Given the description of an element on the screen output the (x, y) to click on. 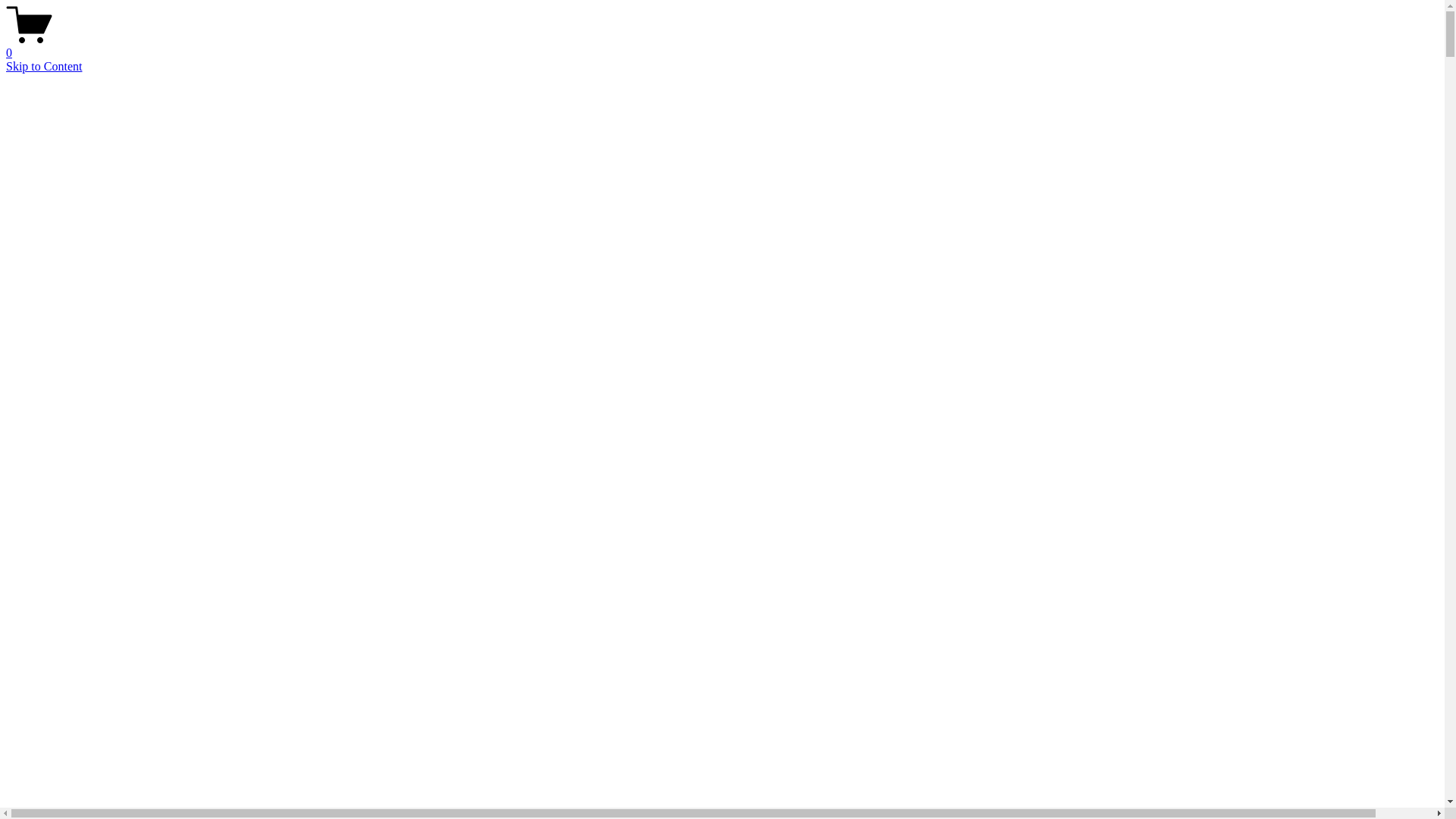
Skip to Content Element type: text (43, 65)
0 Element type: text (722, 45)
